Given the description of an element on the screen output the (x, y) to click on. 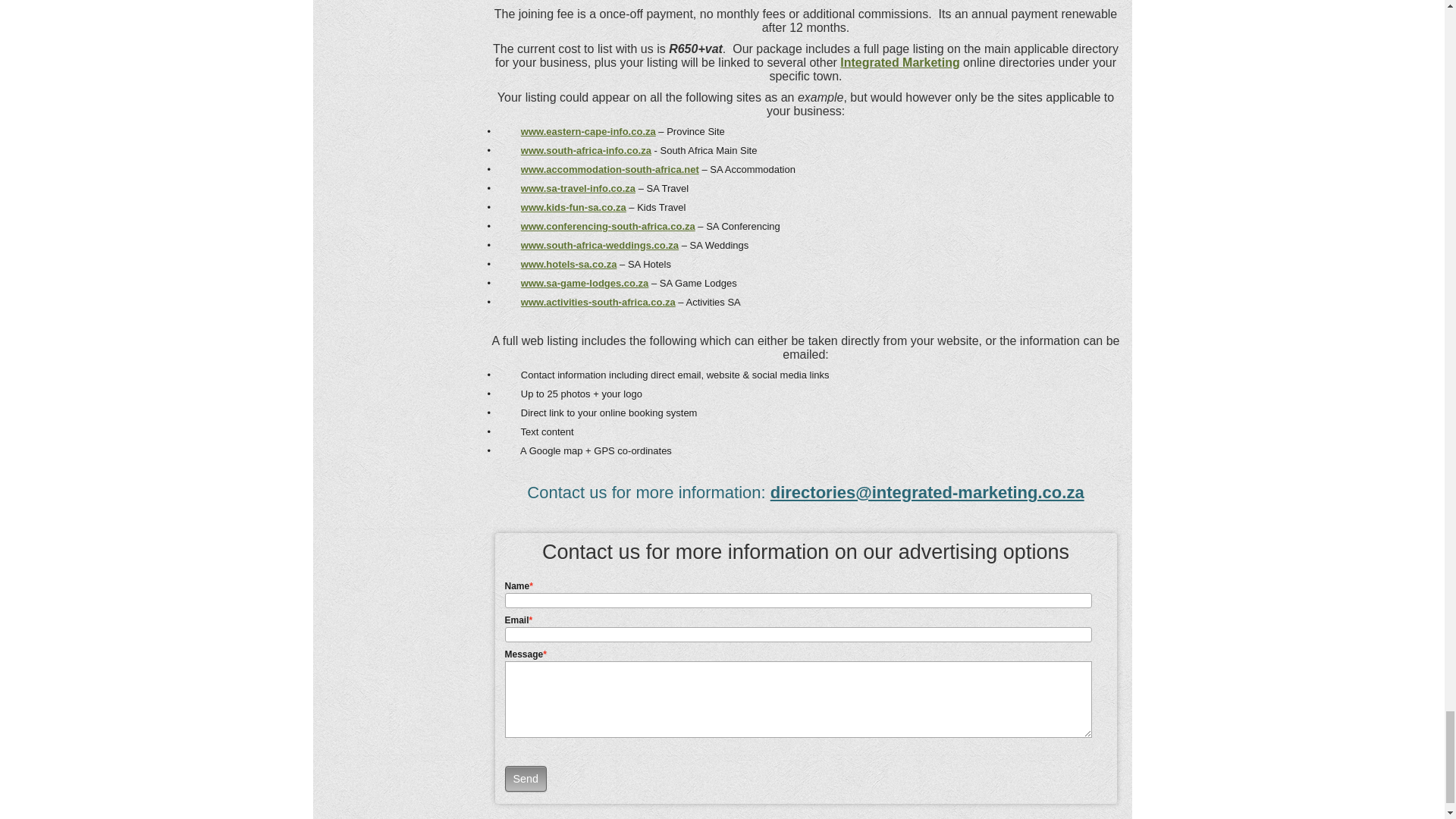
Send (526, 778)
